Given the description of an element on the screen output the (x, y) to click on. 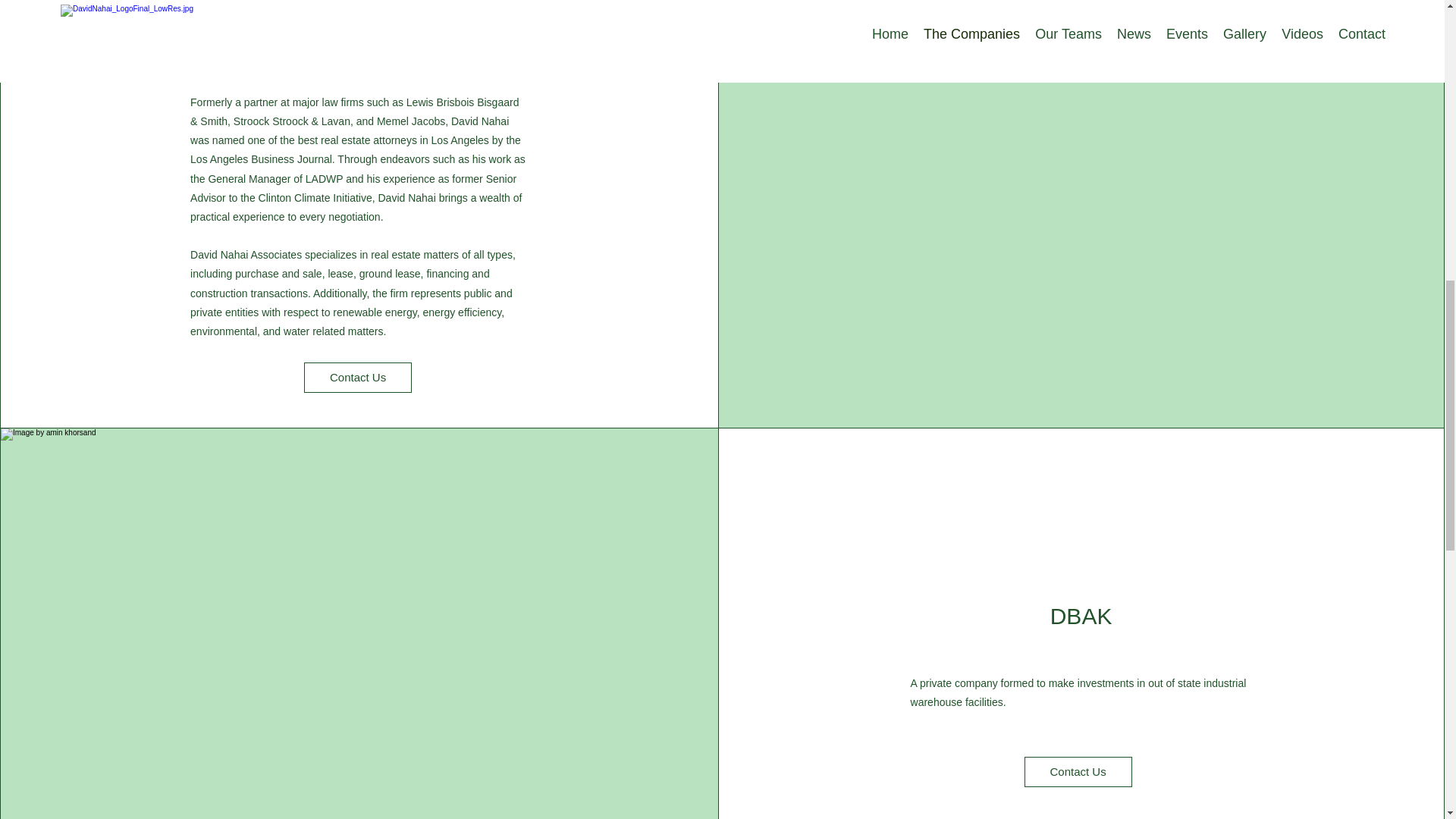
Contact Us (1078, 771)
Contact Us (358, 377)
